Given the description of an element on the screen output the (x, y) to click on. 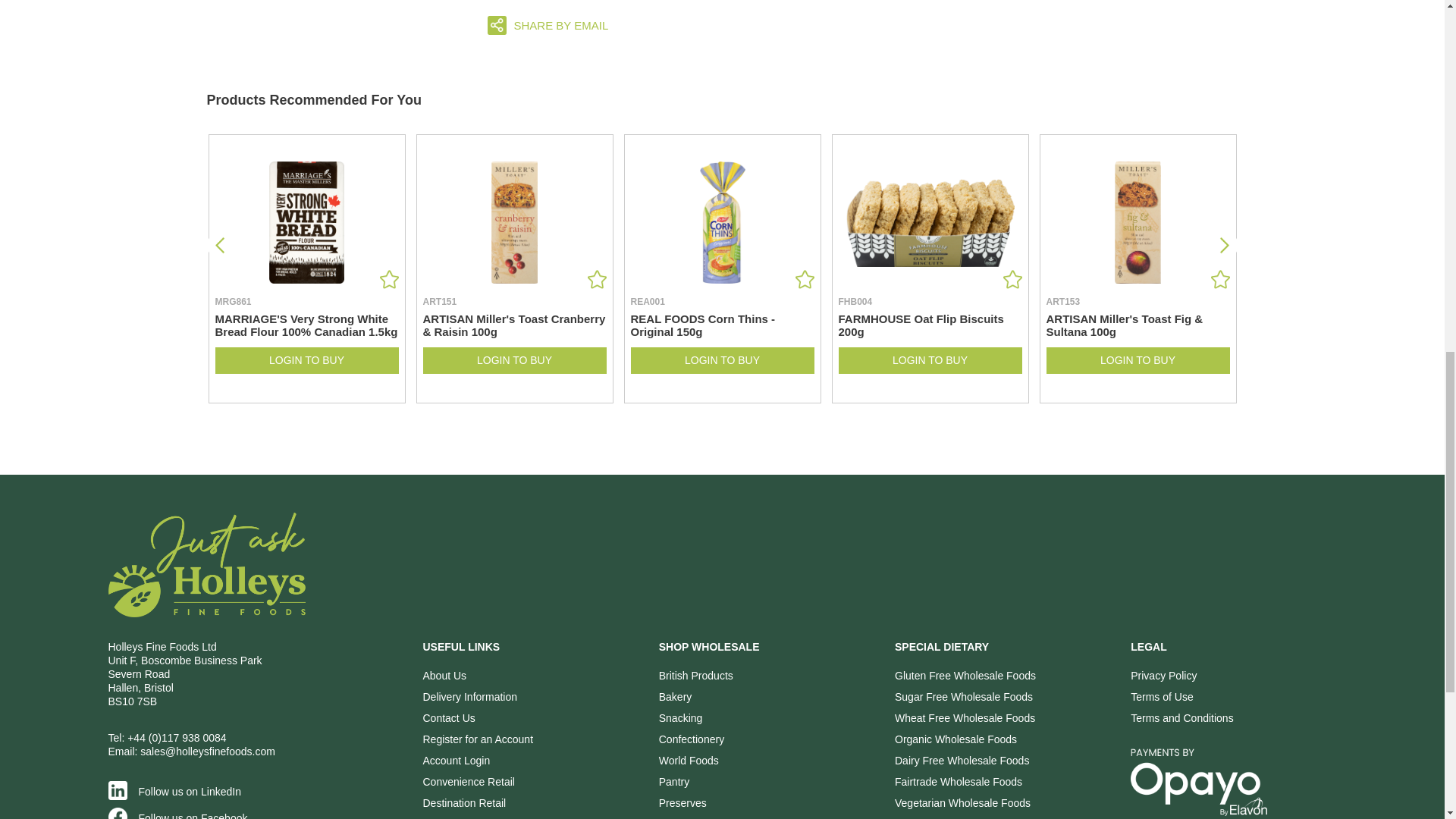
Add to Favourites (803, 279)
Add to Favourites (1012, 279)
Add to Favourites (387, 279)
Add to Favourites (1218, 279)
Add to Favourites (595, 279)
